Given the description of an element on the screen output the (x, y) to click on. 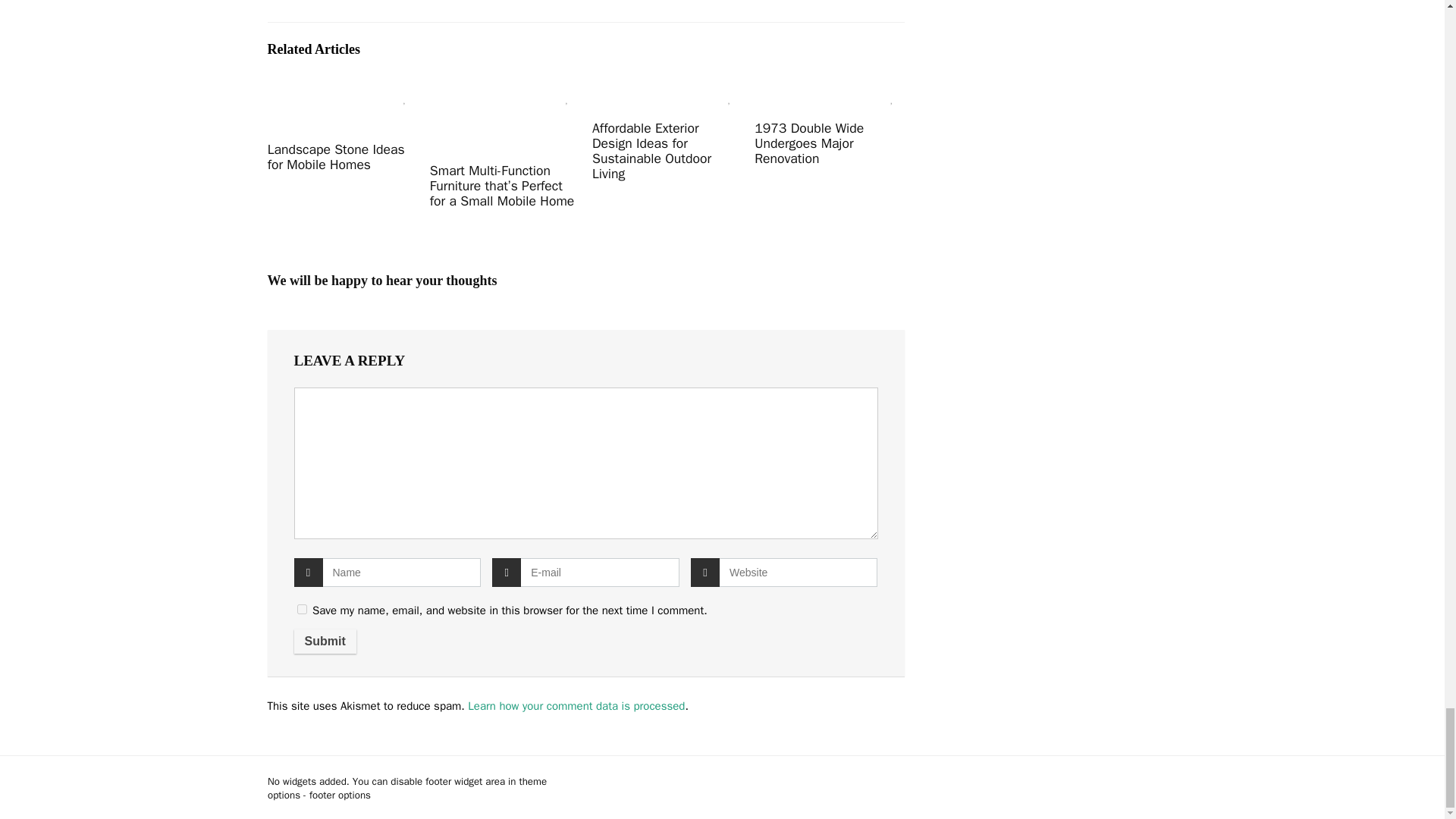
yes (302, 609)
Submit (325, 641)
